Given the description of an element on the screen output the (x, y) to click on. 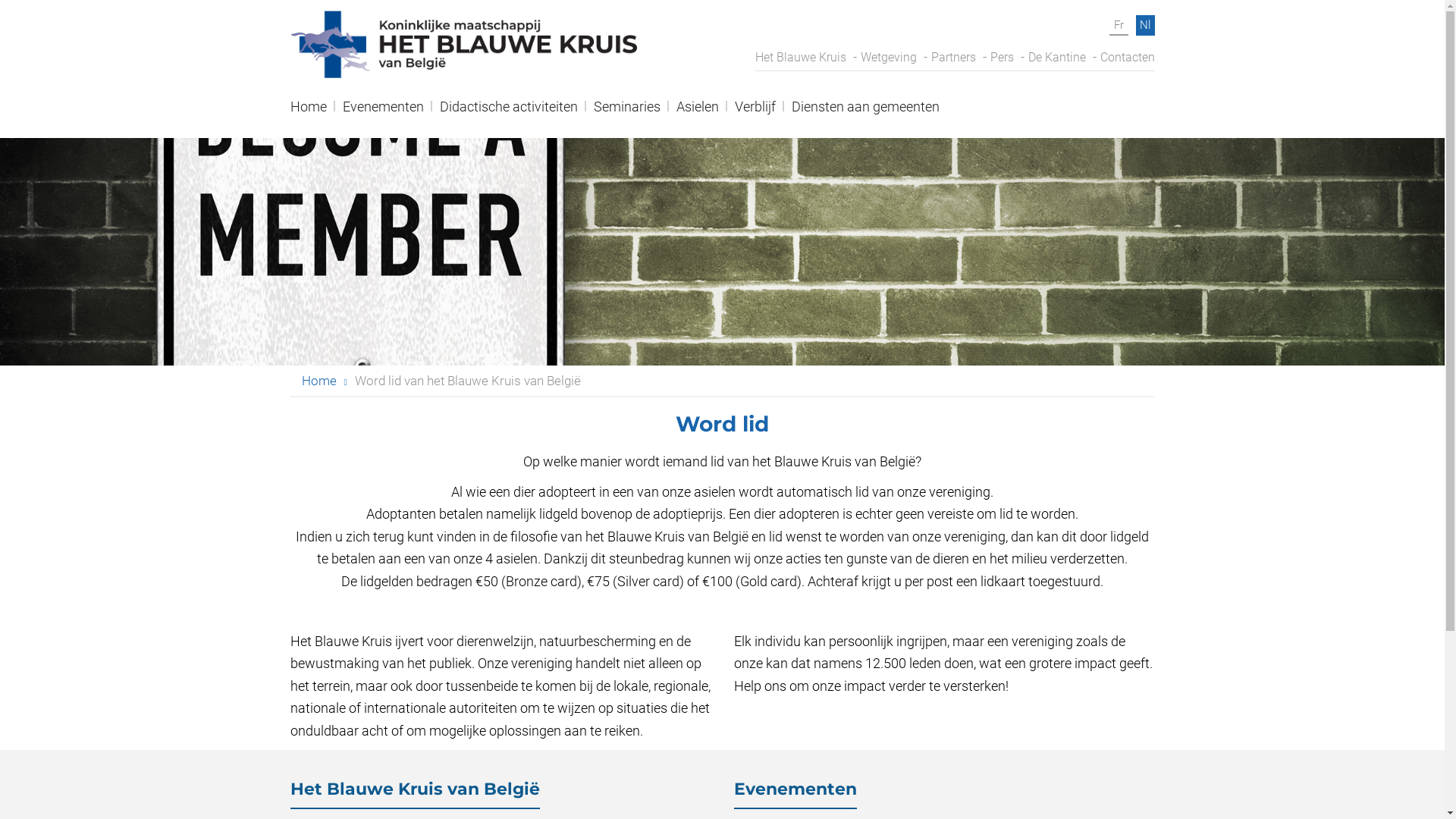
Nl Element type: text (1144, 25)
Wetgeving Element type: text (887, 57)
Home Element type: text (307, 111)
Diensten aan gemeenten Element type: text (865, 111)
Het Blauwe Kruis Element type: text (800, 57)
Evenementen Element type: text (382, 111)
Pers Element type: text (1001, 57)
Asielen Element type: text (697, 111)
Didactische activiteiten Element type: text (508, 111)
Partners Element type: text (953, 57)
Verblijf Element type: text (754, 111)
Seminaries Element type: text (626, 111)
Fr Element type: text (1117, 25)
Contacten Element type: text (1126, 57)
De Kantine Element type: text (1056, 57)
Home Element type: text (318, 380)
